Given the description of an element on the screen output the (x, y) to click on. 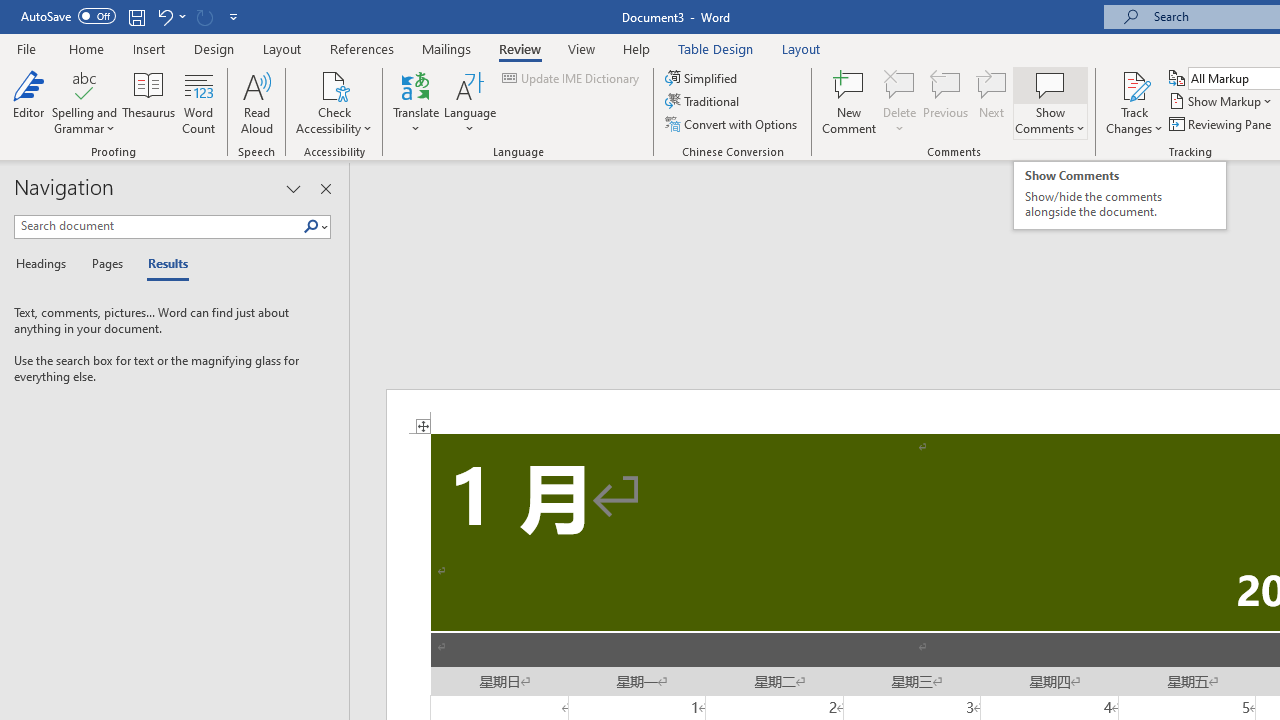
Update IME Dictionary... (572, 78)
Spelling and Grammar (84, 84)
New Comment (849, 102)
Delete (900, 84)
Traditional (703, 101)
Convert with Options... (732, 124)
Check Accessibility (334, 102)
Delete (900, 102)
